Given the description of an element on the screen output the (x, y) to click on. 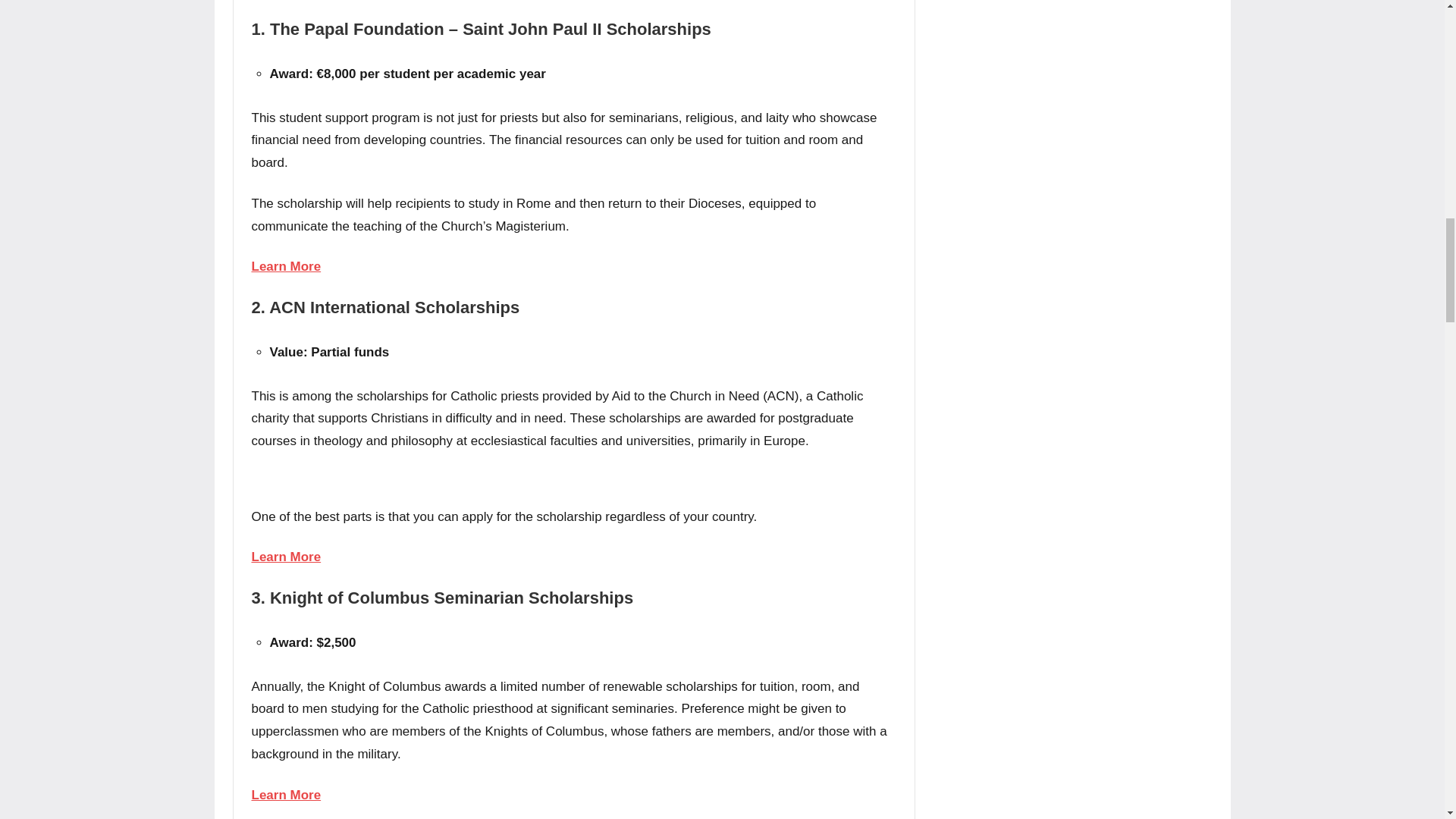
Learn More (286, 266)
Learn More (286, 556)
Learn More (286, 794)
